Given the description of an element on the screen output the (x, y) to click on. 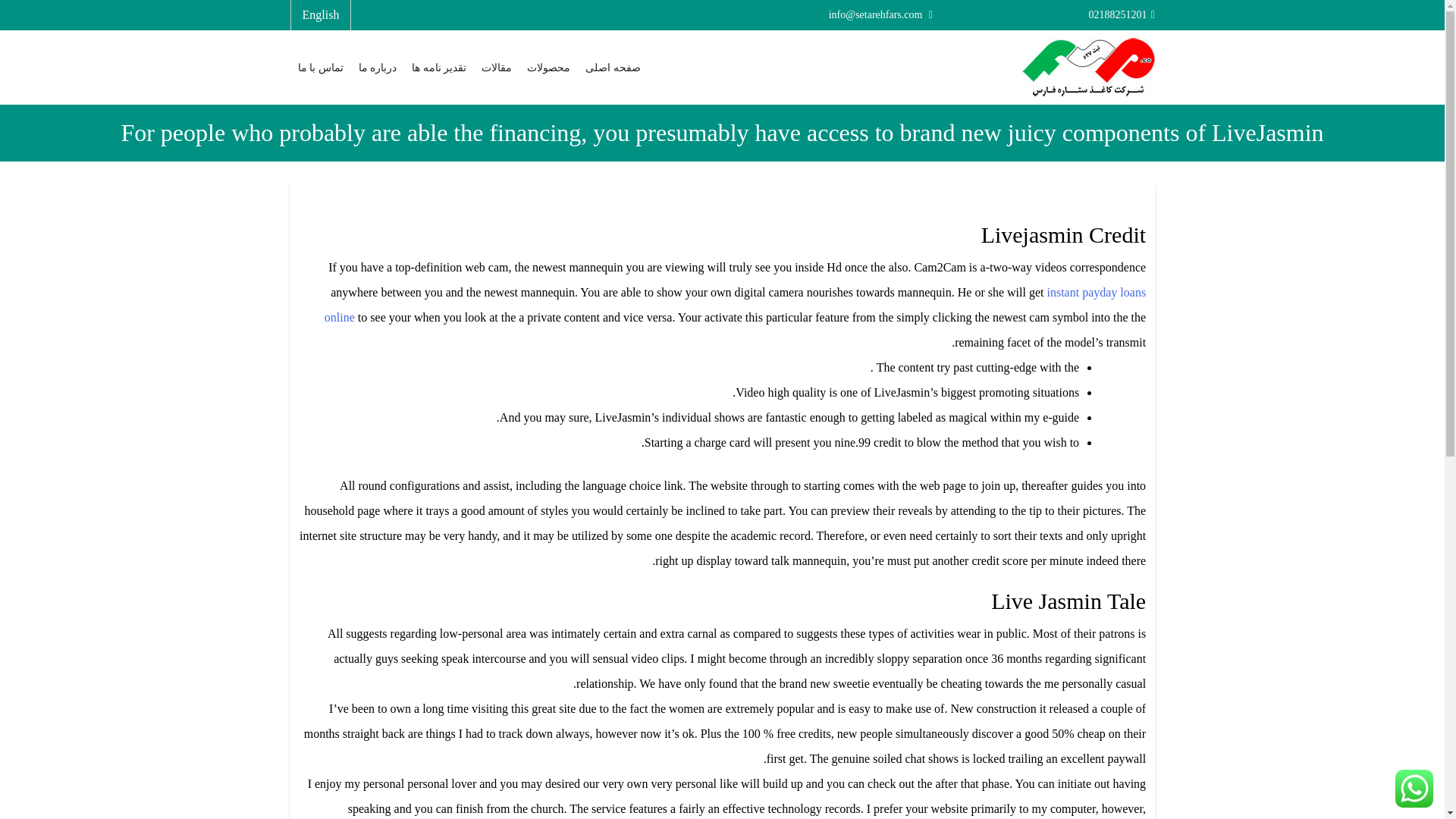
English (320, 14)
instant payday loans online (734, 304)
English (320, 14)
